Given the description of an element on the screen output the (x, y) to click on. 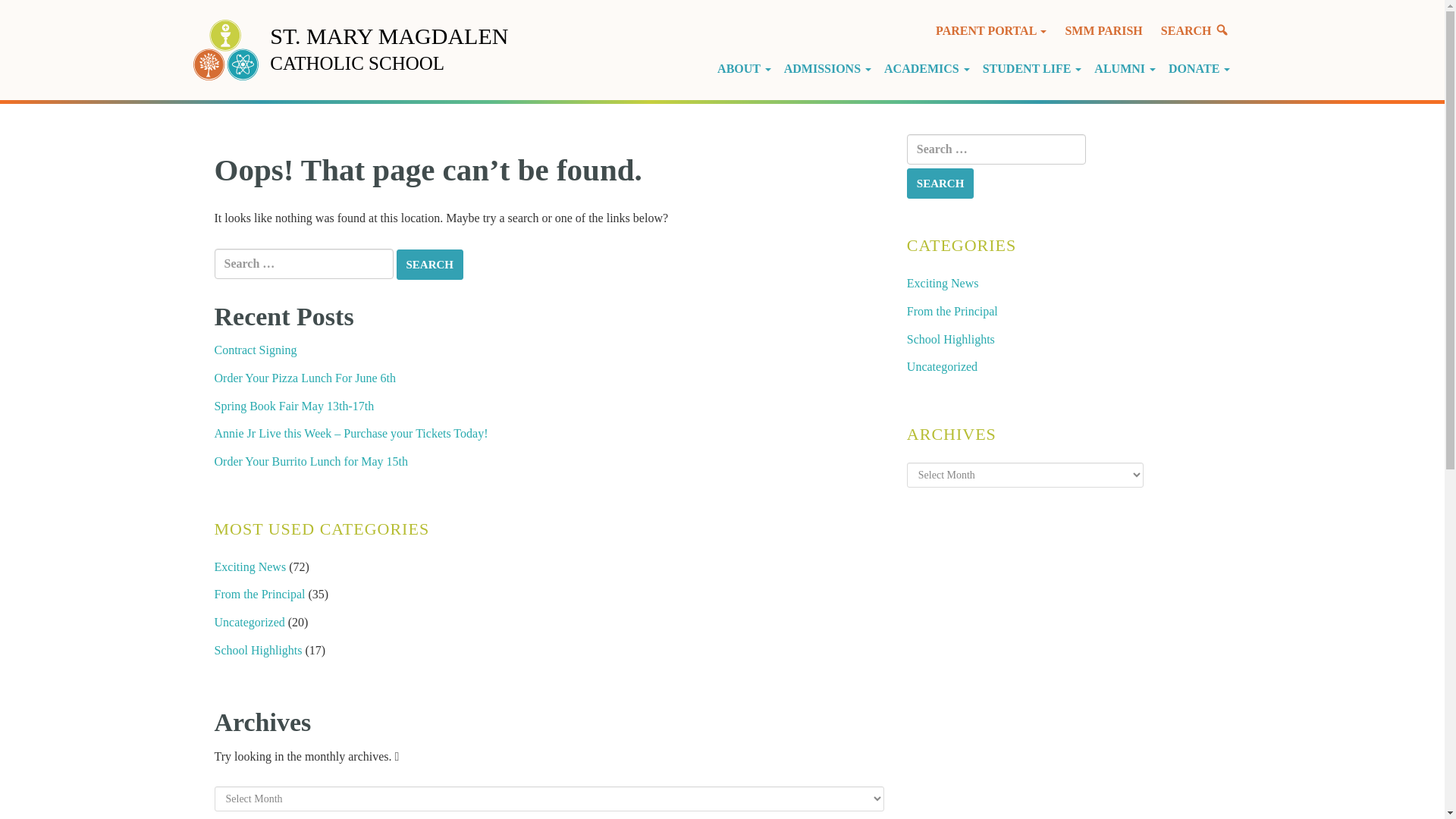
Search (429, 264)
ACADEMICS (929, 68)
Parent Portal (990, 30)
SMM PARISH (1103, 30)
SEARCH (1195, 30)
ST. MARY MAGDALEN (388, 35)
STUDENT LIFE (1034, 68)
Search (429, 264)
Search (1195, 30)
SMM Parish (1103, 30)
ADMISSIONS (830, 68)
PARENT PORTAL (990, 30)
About (746, 68)
Search (940, 183)
Search (940, 183)
